Given the description of an element on the screen output the (x, y) to click on. 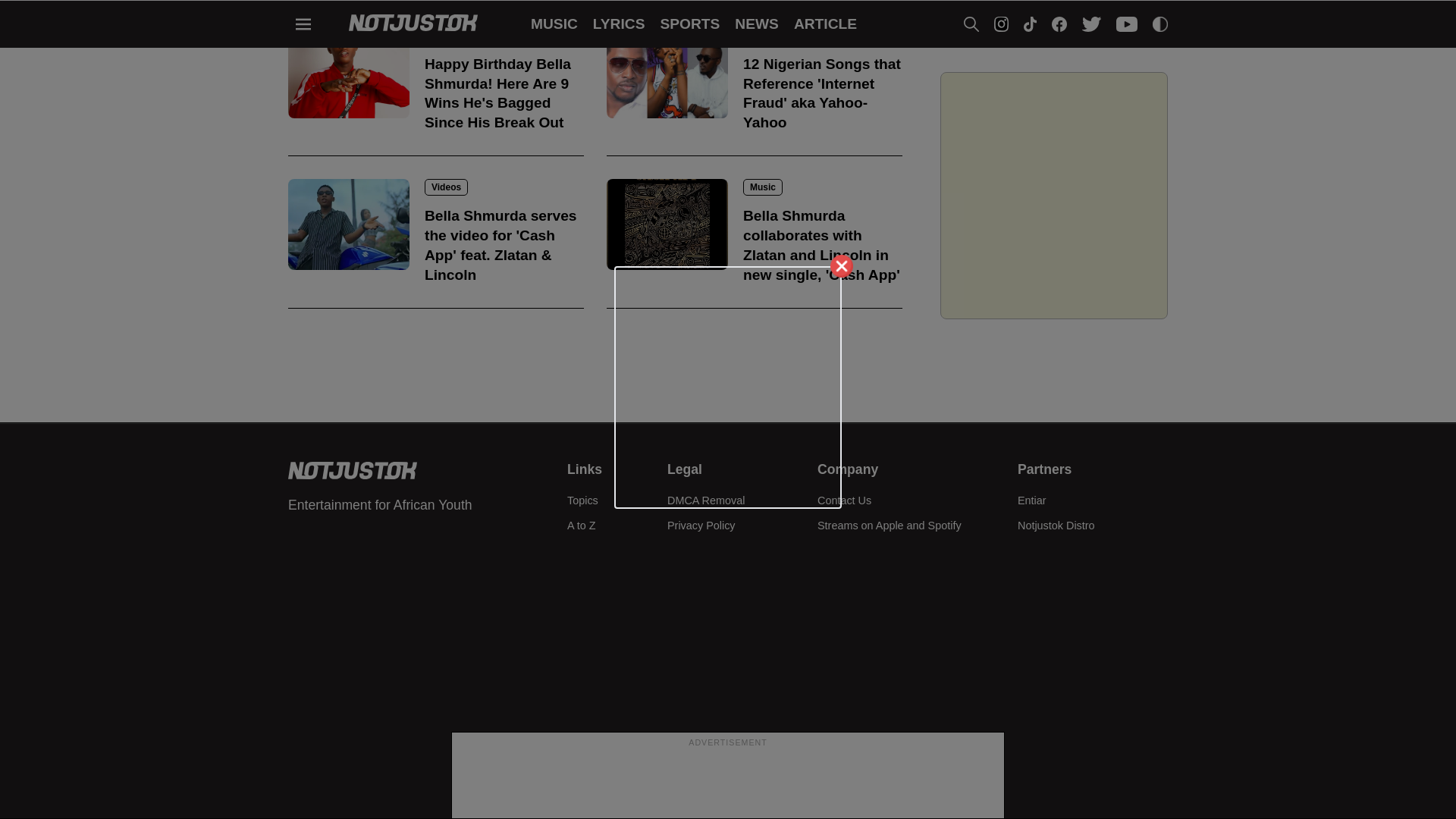
Lists (442, 35)
Videos (446, 187)
Lists (759, 35)
